Given the description of an element on the screen output the (x, y) to click on. 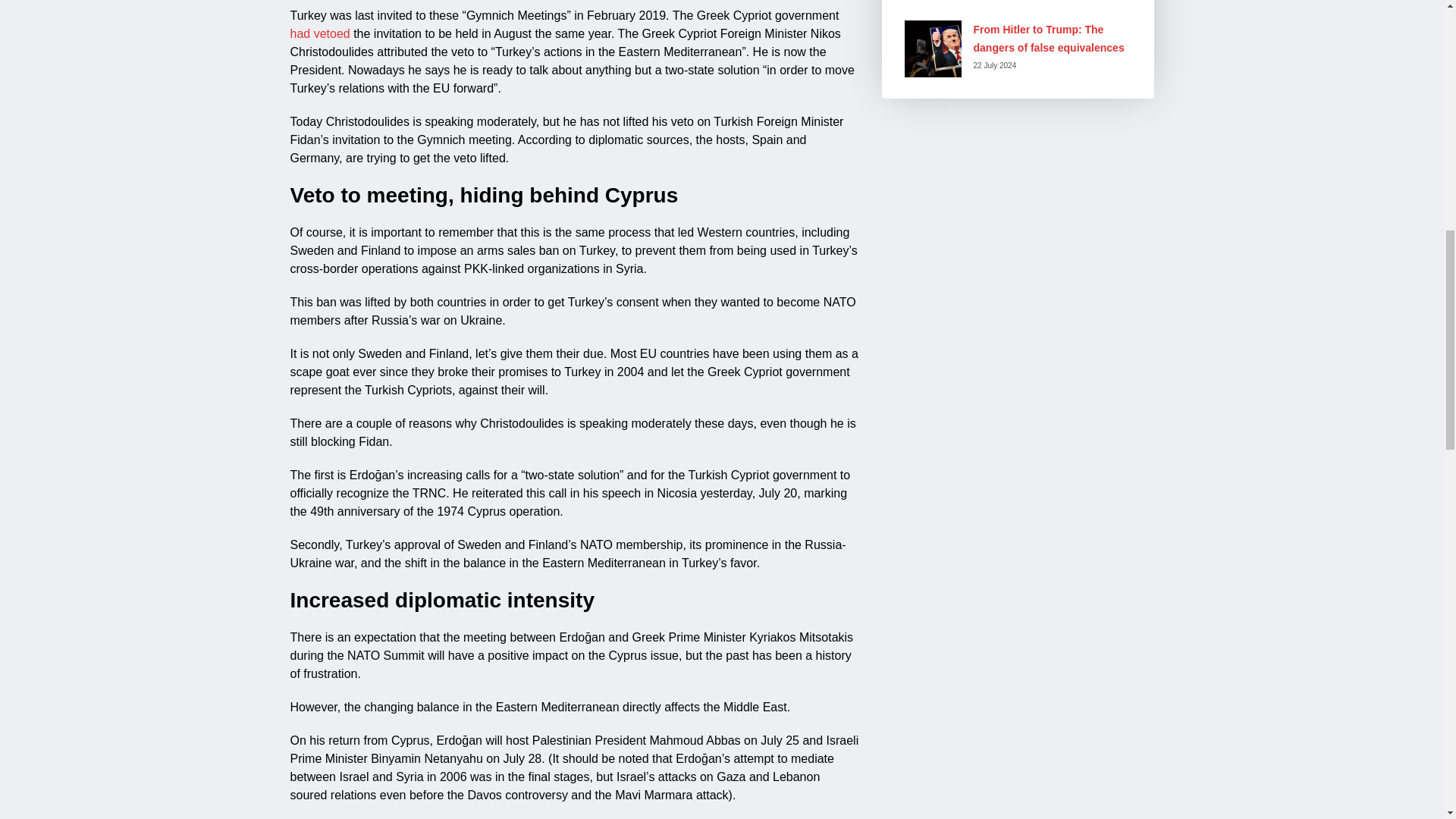
had vetoed (319, 33)
From Hitler to Trump: The dangers of false equivalences (1049, 38)
